Given the description of an element on the screen output the (x, y) to click on. 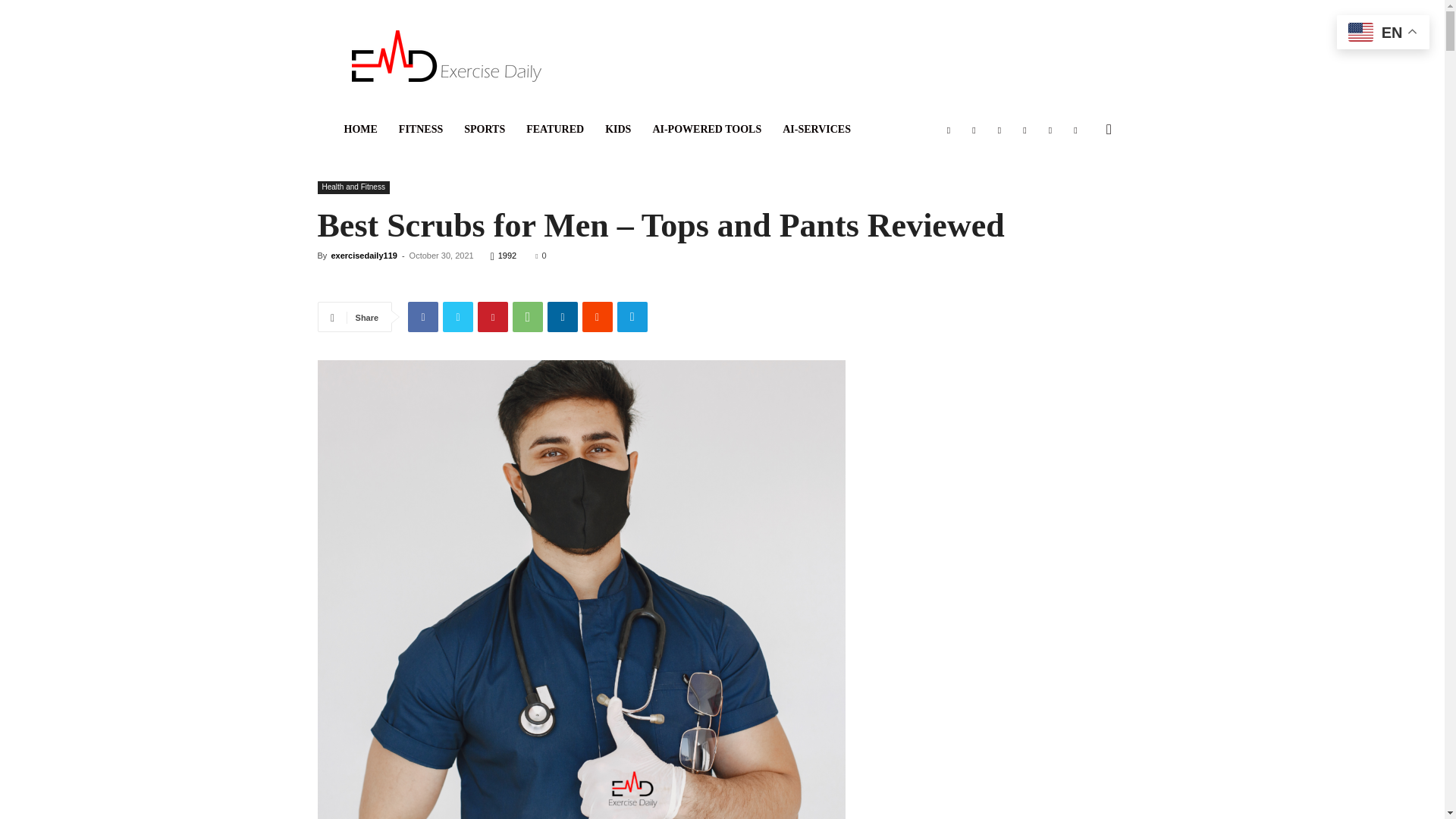
Twitter (457, 317)
Facebook (422, 317)
topFacebookLike (430, 283)
Pinterest (492, 317)
EXERCISE DAILY MAGAZINE  (446, 55)
